Given the description of an element on the screen output the (x, y) to click on. 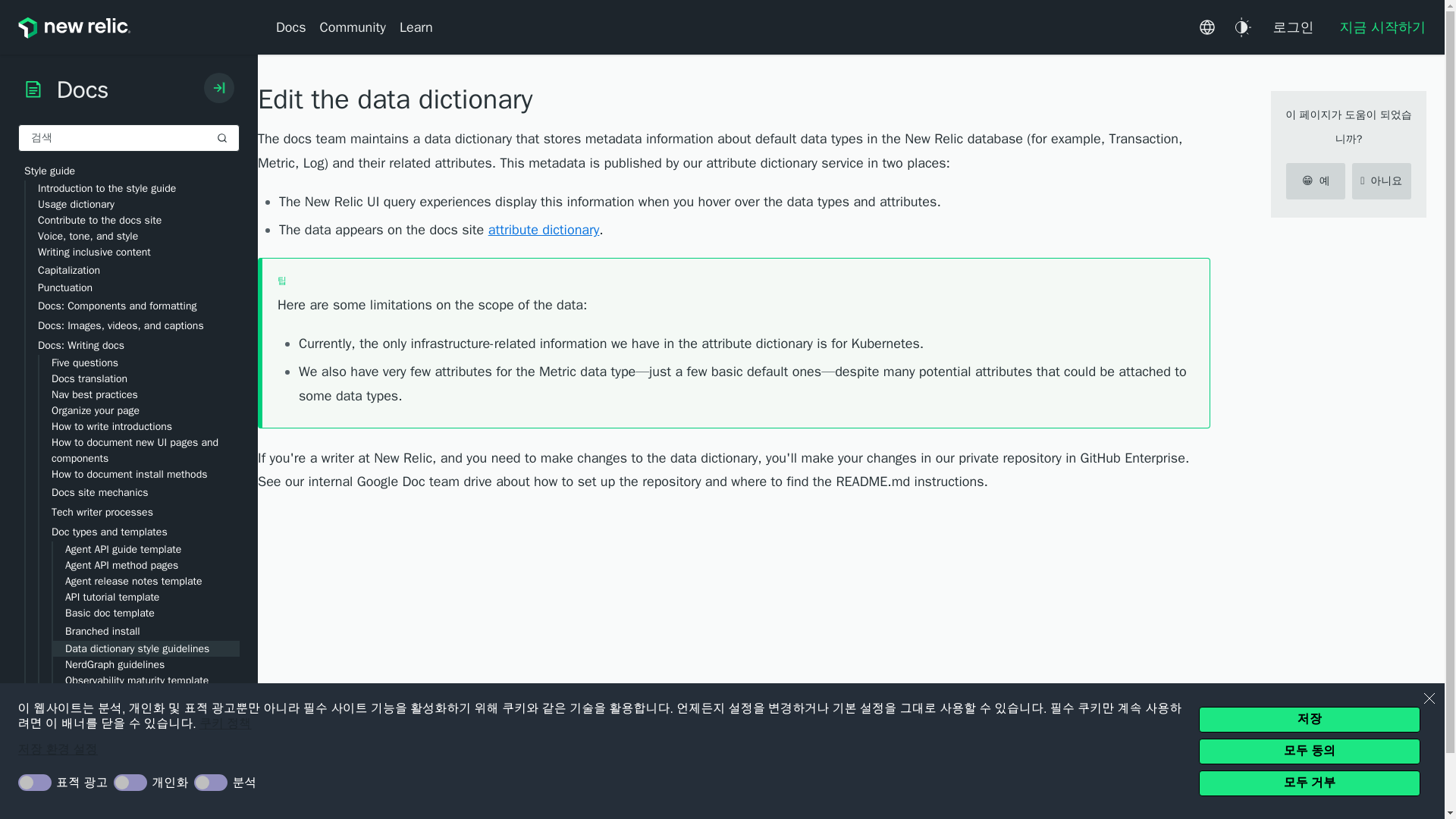
Voice, tone, and style (138, 236)
Punctuation (138, 287)
Usage dictionary (138, 204)
Docs (294, 27)
Contribute to the docs site (138, 220)
Introduction to the style guide (138, 188)
Community (353, 27)
Learn (416, 27)
Writing inclusive content (138, 252)
